Given the description of an element on the screen output the (x, y) to click on. 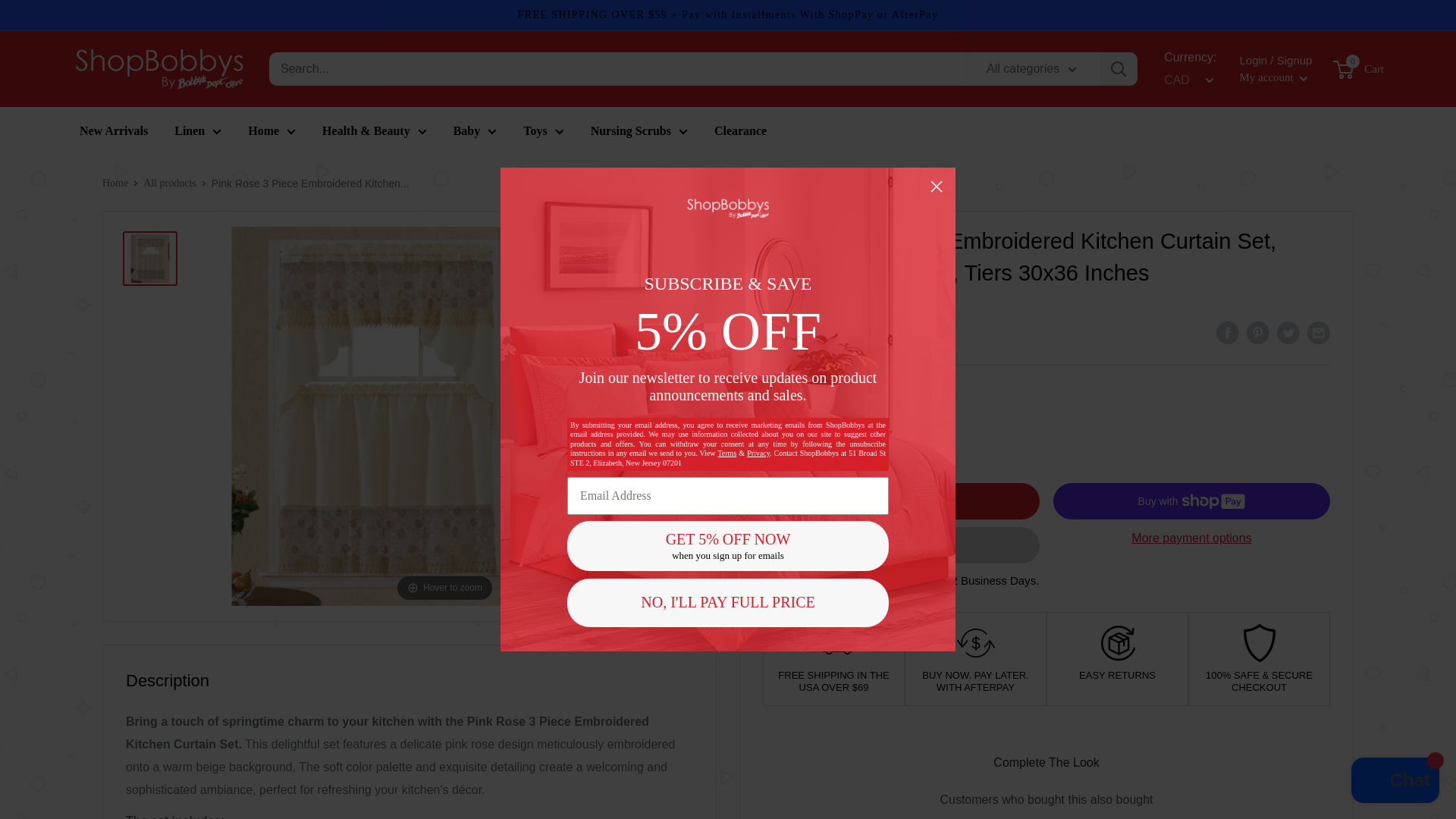
Currency (1186, 79)
